Given the description of an element on the screen output the (x, y) to click on. 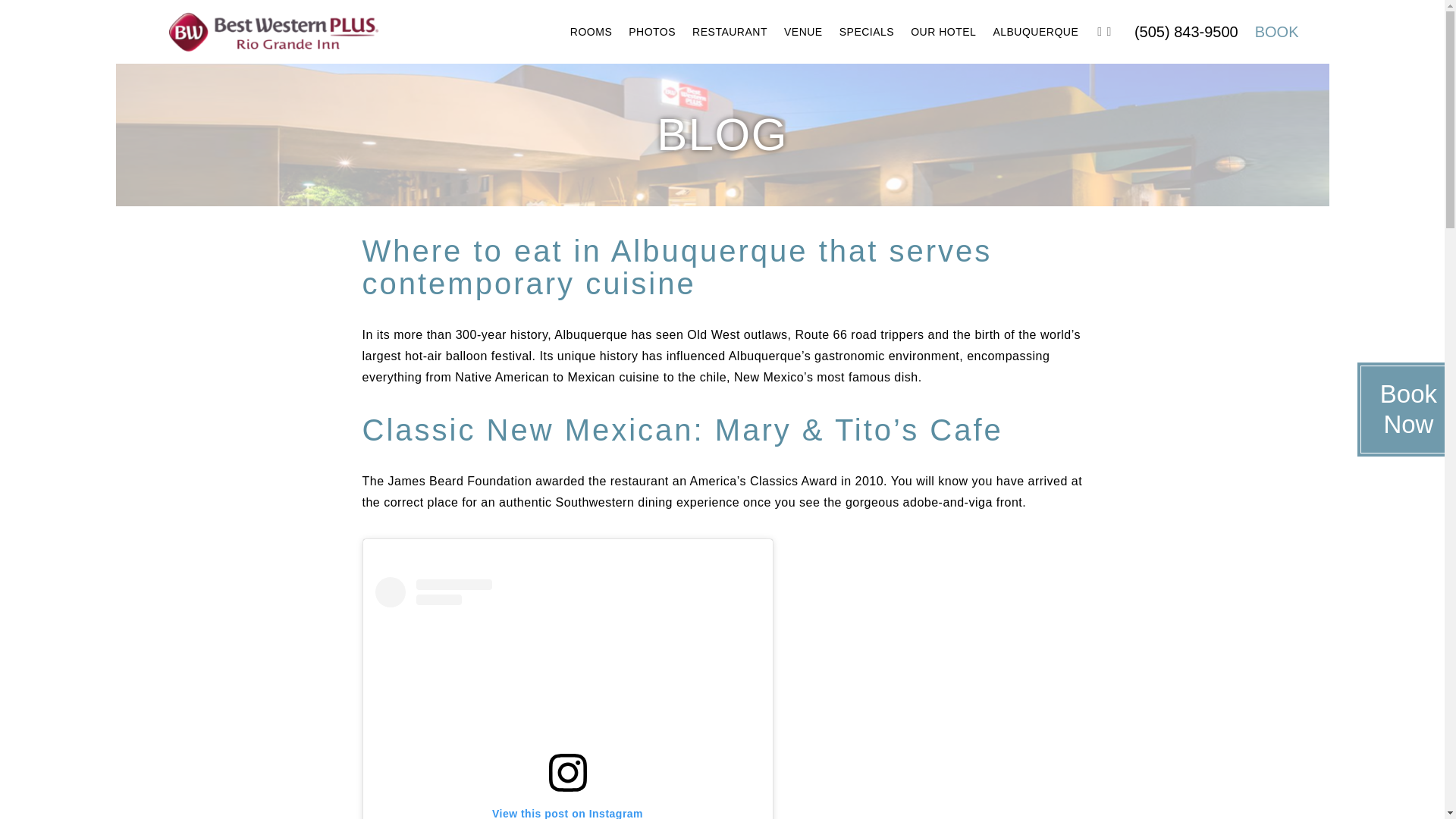
RESTAURANT (730, 31)
OUR HOTEL (943, 31)
ROOMS (591, 31)
ALBUQUERQUE (1035, 31)
SPECIALS (866, 31)
PHOTOS (652, 31)
